Given the description of an element on the screen output the (x, y) to click on. 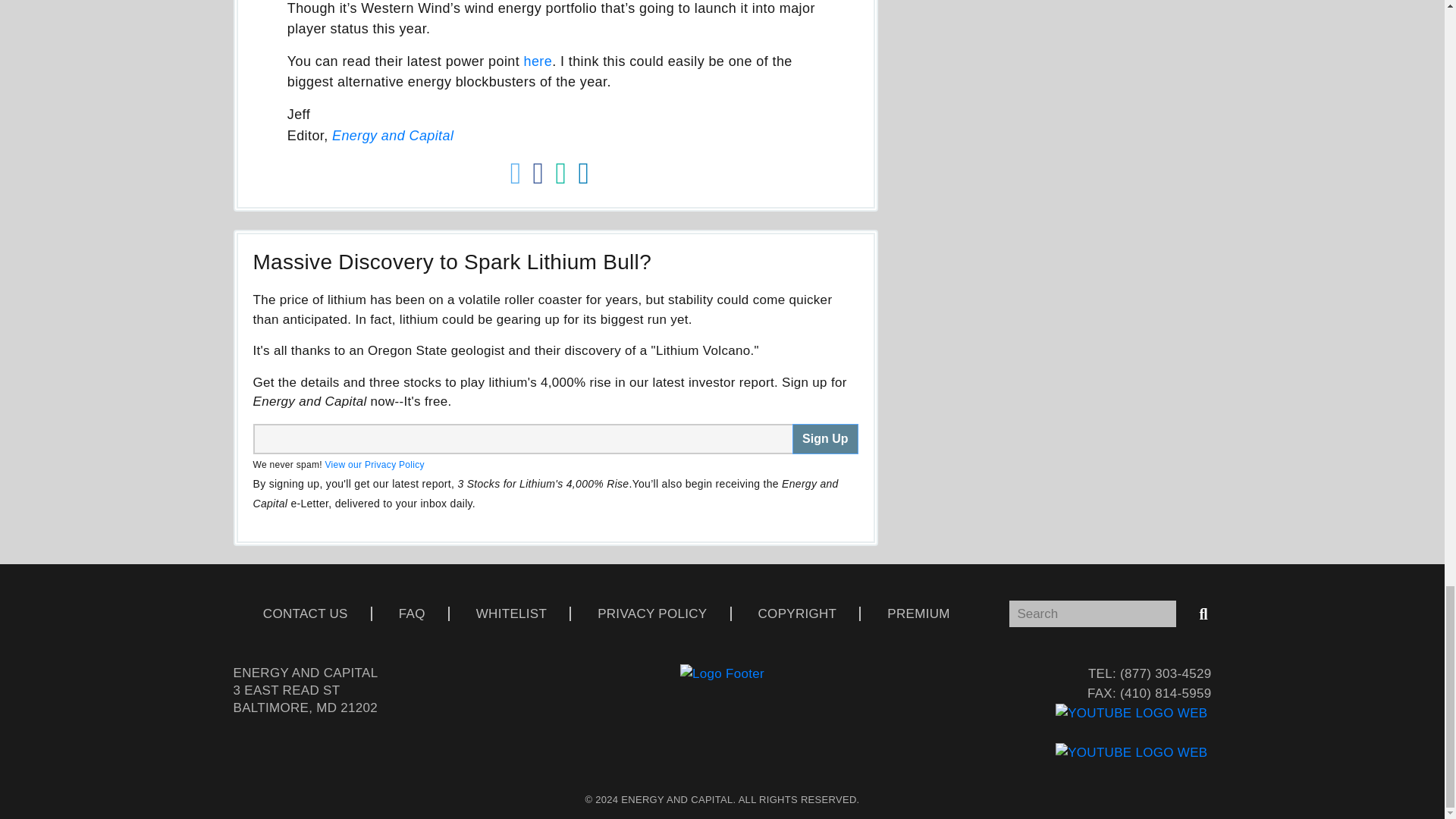
Energy and Capital (391, 135)
Sign Up (824, 439)
here (538, 61)
View our Privacy Policy (373, 464)
